Given the description of an element on the screen output the (x, y) to click on. 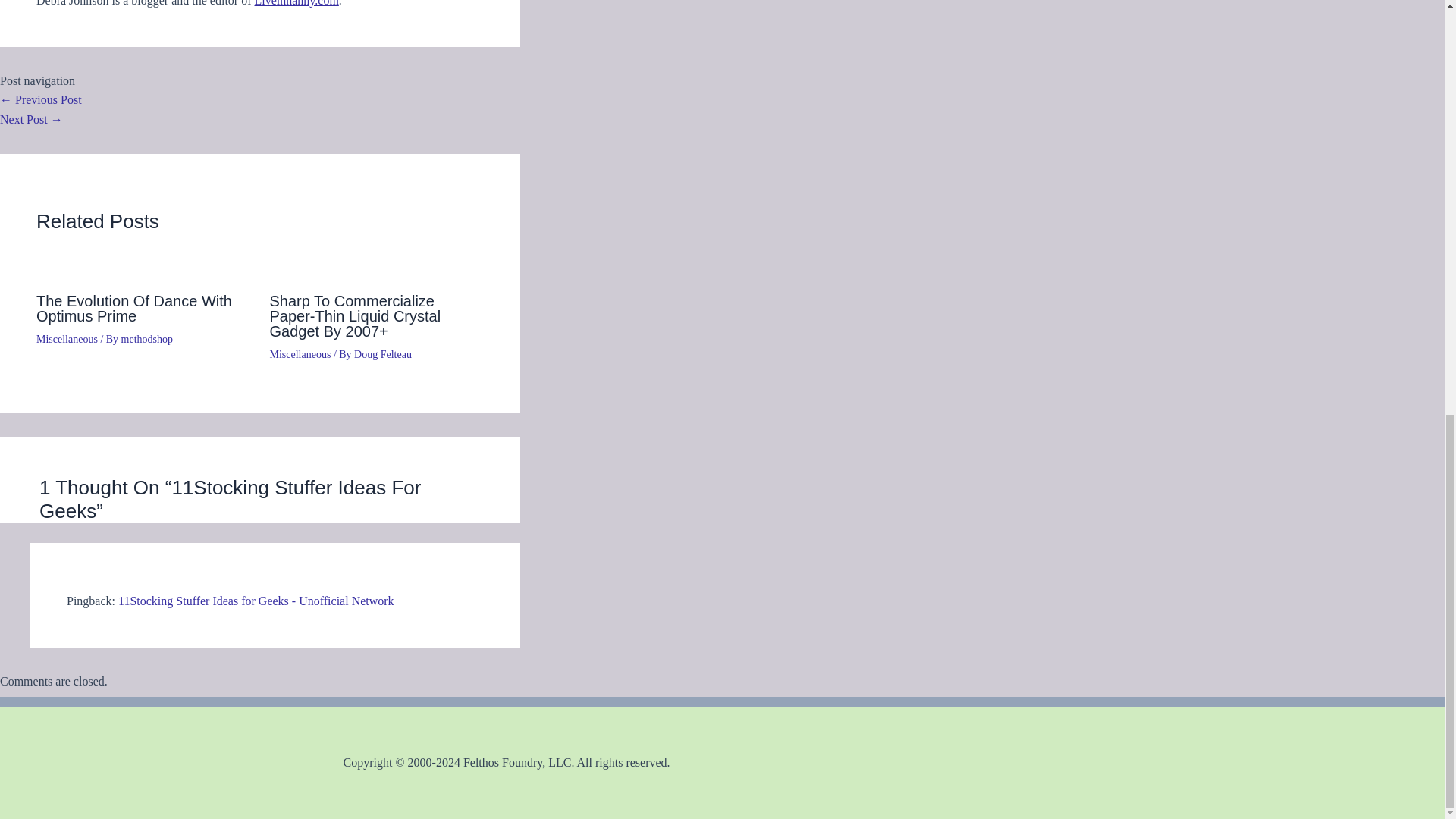
Miscellaneous (300, 354)
methodshop (146, 338)
Doug Felteau (382, 354)
Miscellaneous (66, 338)
11Stocking Stuffer Ideas for Geeks - Unofficial Network (255, 600)
Liveinnanny.com (295, 3)
View all posts by methodshop (146, 338)
View all posts by Doug Felteau (382, 354)
The Evolution Of Dance With Optimus Prime (133, 308)
